Given the description of an element on the screen output the (x, y) to click on. 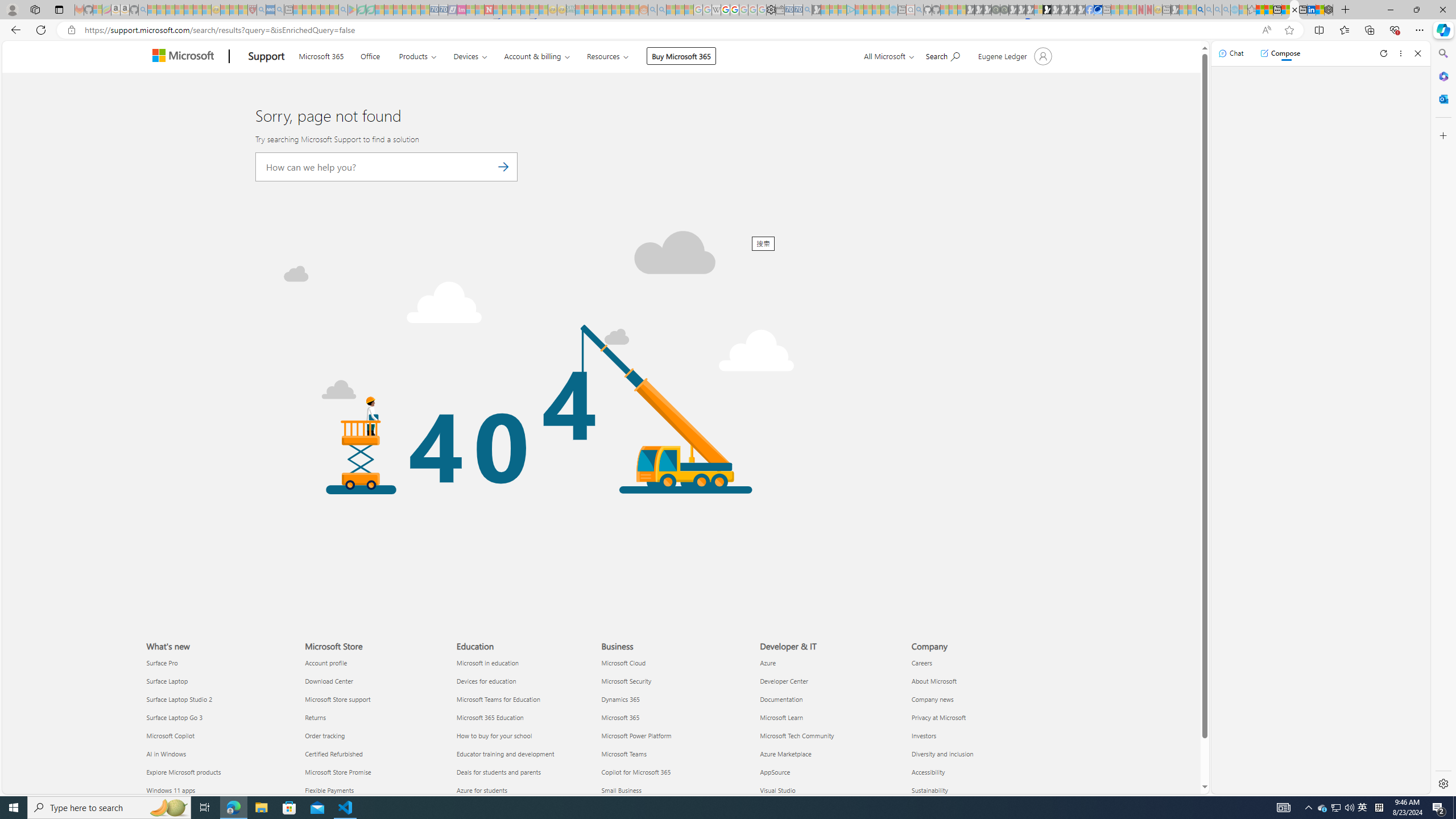
Download Center Microsoft Store (328, 680)
Wallet - Sleeping (779, 9)
Buy Microsoft 365 (681, 55)
Order tracking Microsoft Store (324, 734)
The Weather Channel - MSN - Sleeping (170, 9)
Educator training and development Education (504, 753)
Microsoft in education (525, 662)
